Given the description of an element on the screen output the (x, y) to click on. 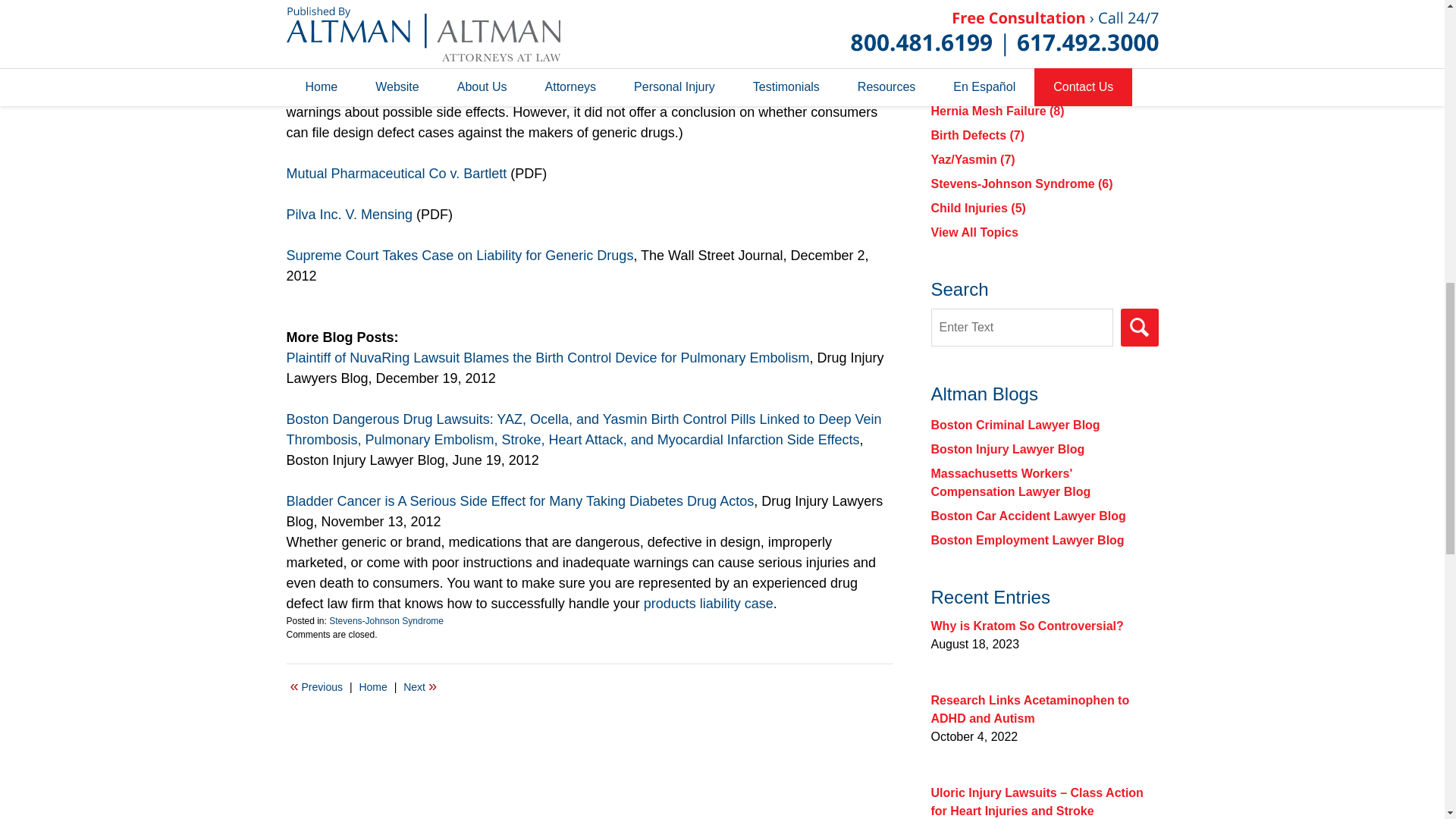
Pilva Inc. V. Mensing (349, 214)
products liability case (708, 603)
Home (372, 686)
Mutual Pharmaceutical Co v. Bartlett (398, 173)
Stevens-Johnson Syndrome (386, 620)
View all posts in Stevens-Johnson Syndrome (386, 620)
Supreme Court Takes Case on Liability for Generic Drugs (459, 255)
